Given the description of an element on the screen output the (x, y) to click on. 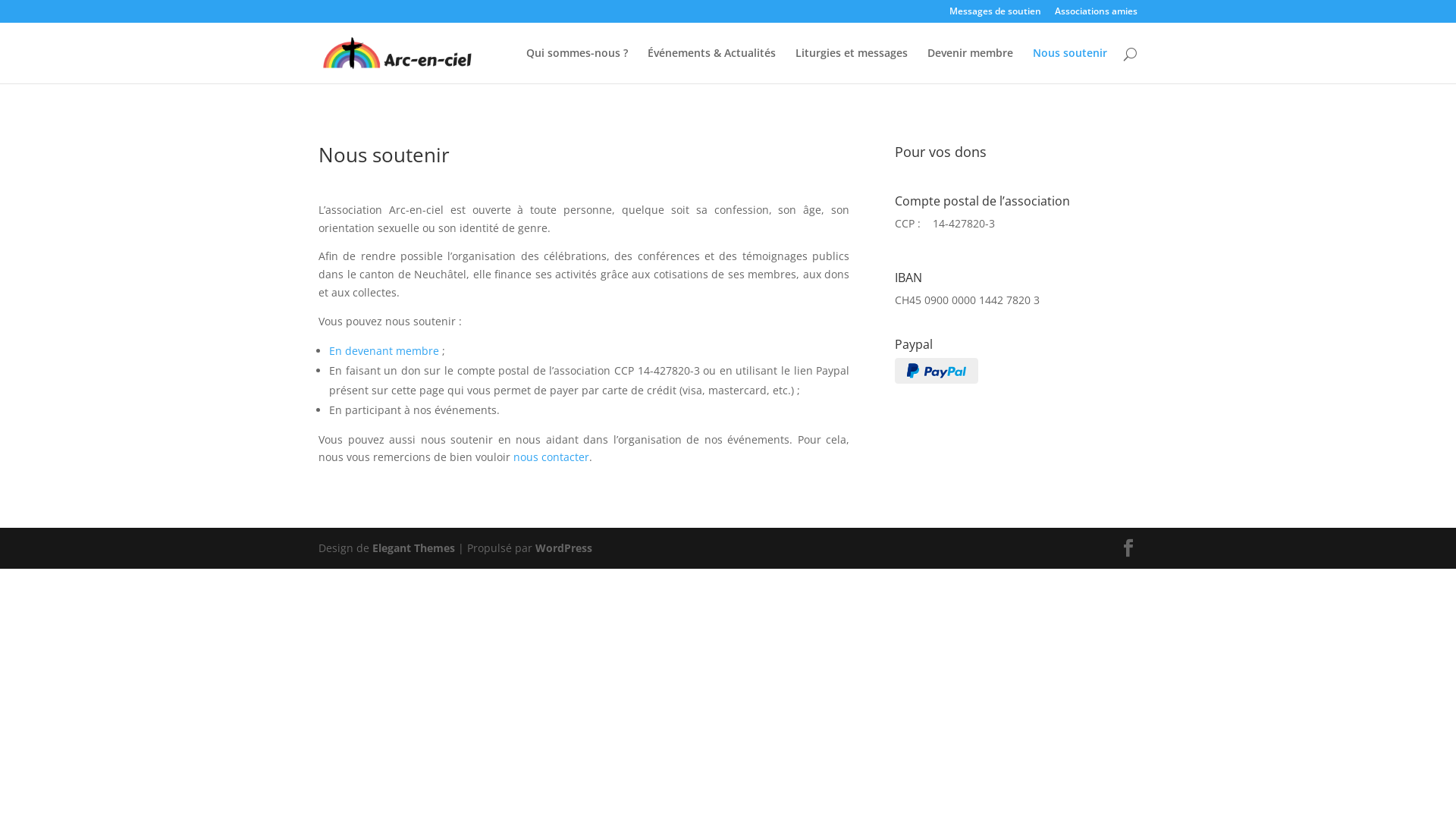
Messages de soutien Element type: text (995, 14)
En devenant membre Element type: text (384, 350)
Devenir membre Element type: text (970, 65)
Elegant Themes Element type: text (413, 547)
Nous soutenir Element type: text (1069, 65)
Associations amies Element type: text (1095, 14)
nous contacter Element type: text (551, 456)
Liturgies et messages Element type: text (851, 65)
Qui sommes-nous ? Element type: text (576, 65)
WordPress Element type: text (563, 547)
